Given the description of an element on the screen output the (x, y) to click on. 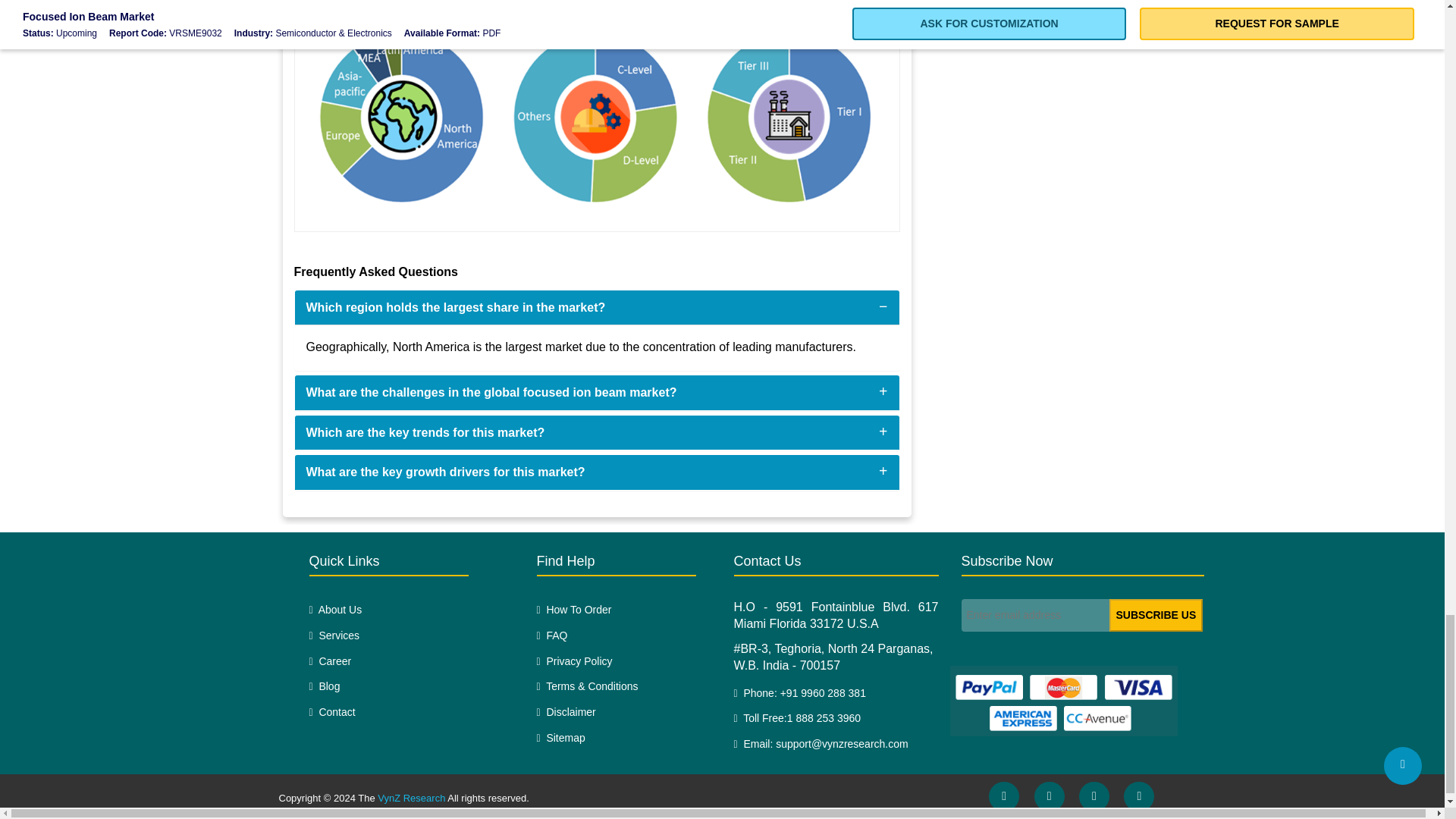
What are the key growth drivers for this market? (445, 472)
Which region holds the largest share in the market? (455, 307)
Paypal (1062, 700)
Which are the key trends for this market? (424, 431)
Focused Ion Beam Market Size (596, 106)
